Given the description of an element on the screen output the (x, y) to click on. 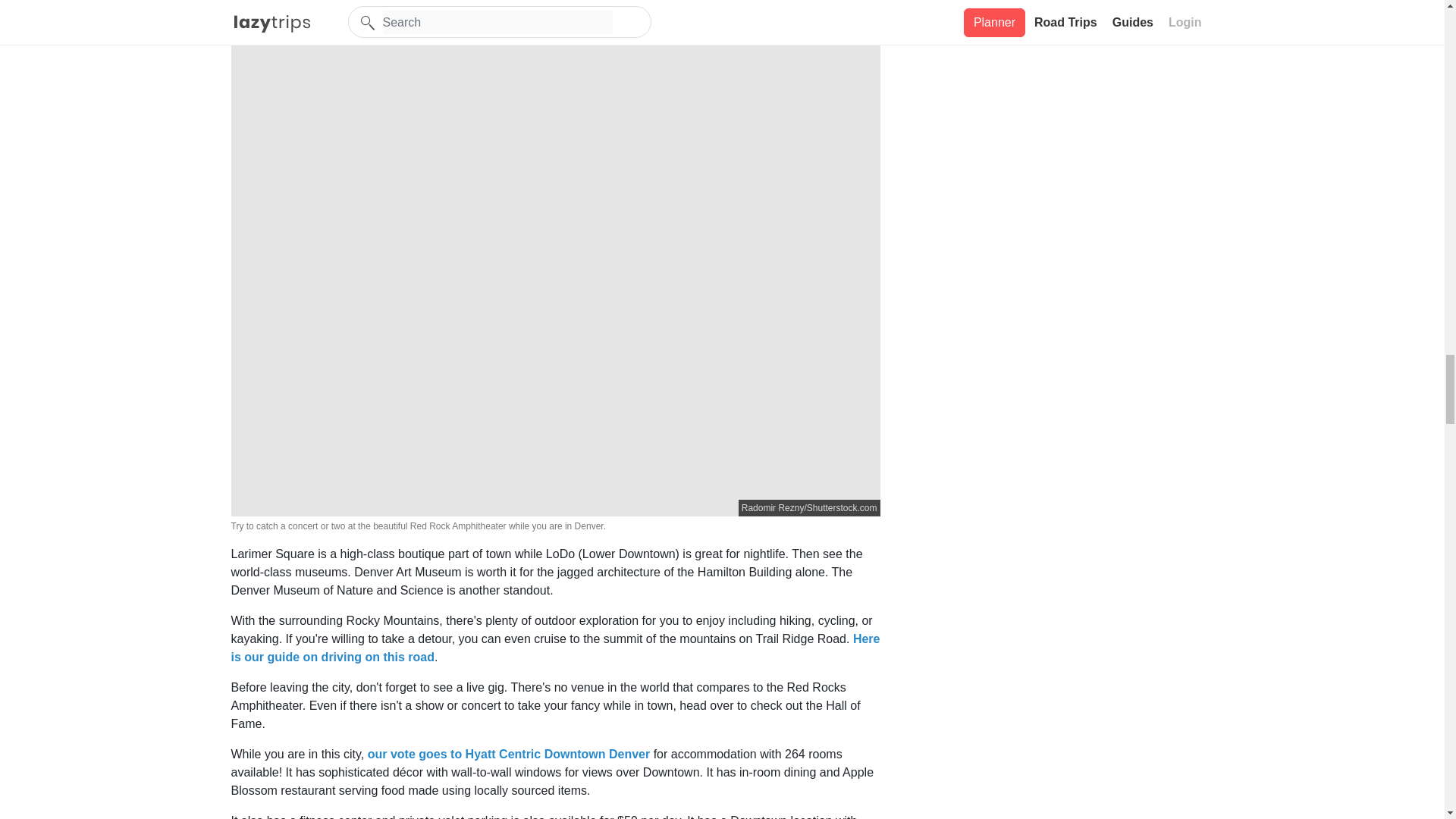
Here is our guide on driving on this road (554, 647)
our vote goes to Hyatt Centric Downtown Denver (508, 753)
